Given the description of an element on the screen output the (x, y) to click on. 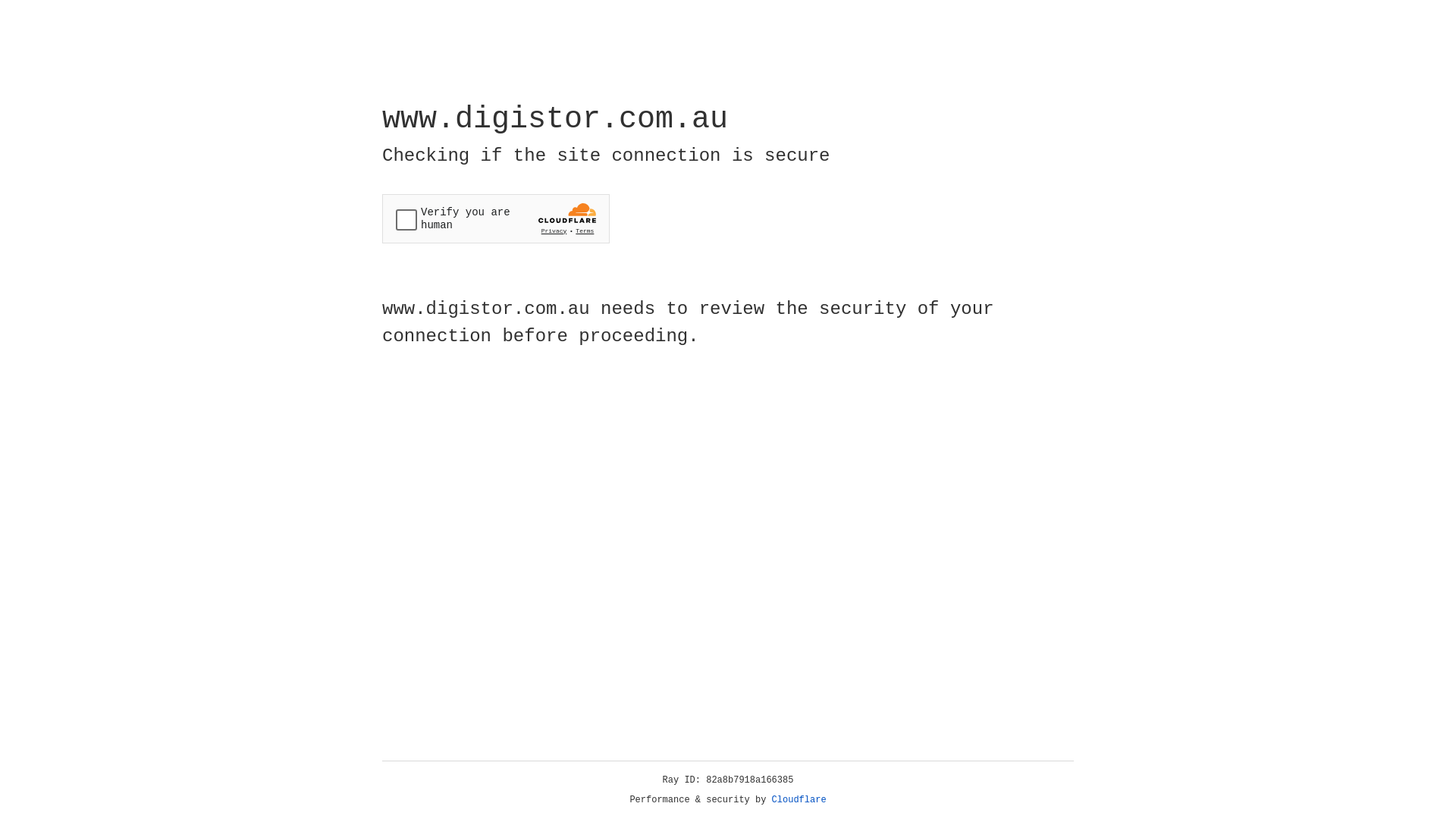
Cloudflare Element type: text (798, 799)
Widget containing a Cloudflare security challenge Element type: hover (495, 218)
